Given the description of an element on the screen output the (x, y) to click on. 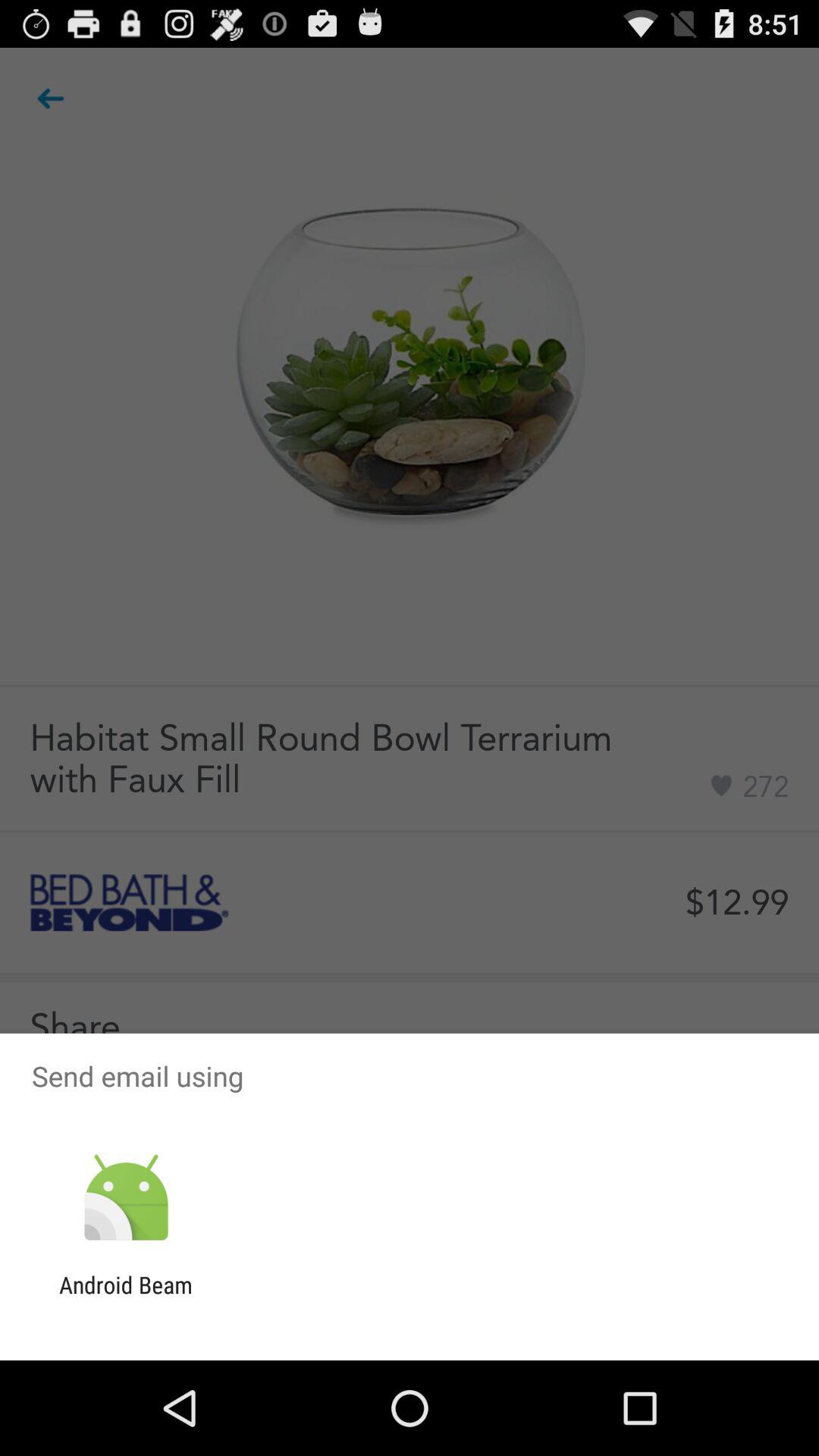
tap item above android beam icon (126, 1198)
